Given the description of an element on the screen output the (x, y) to click on. 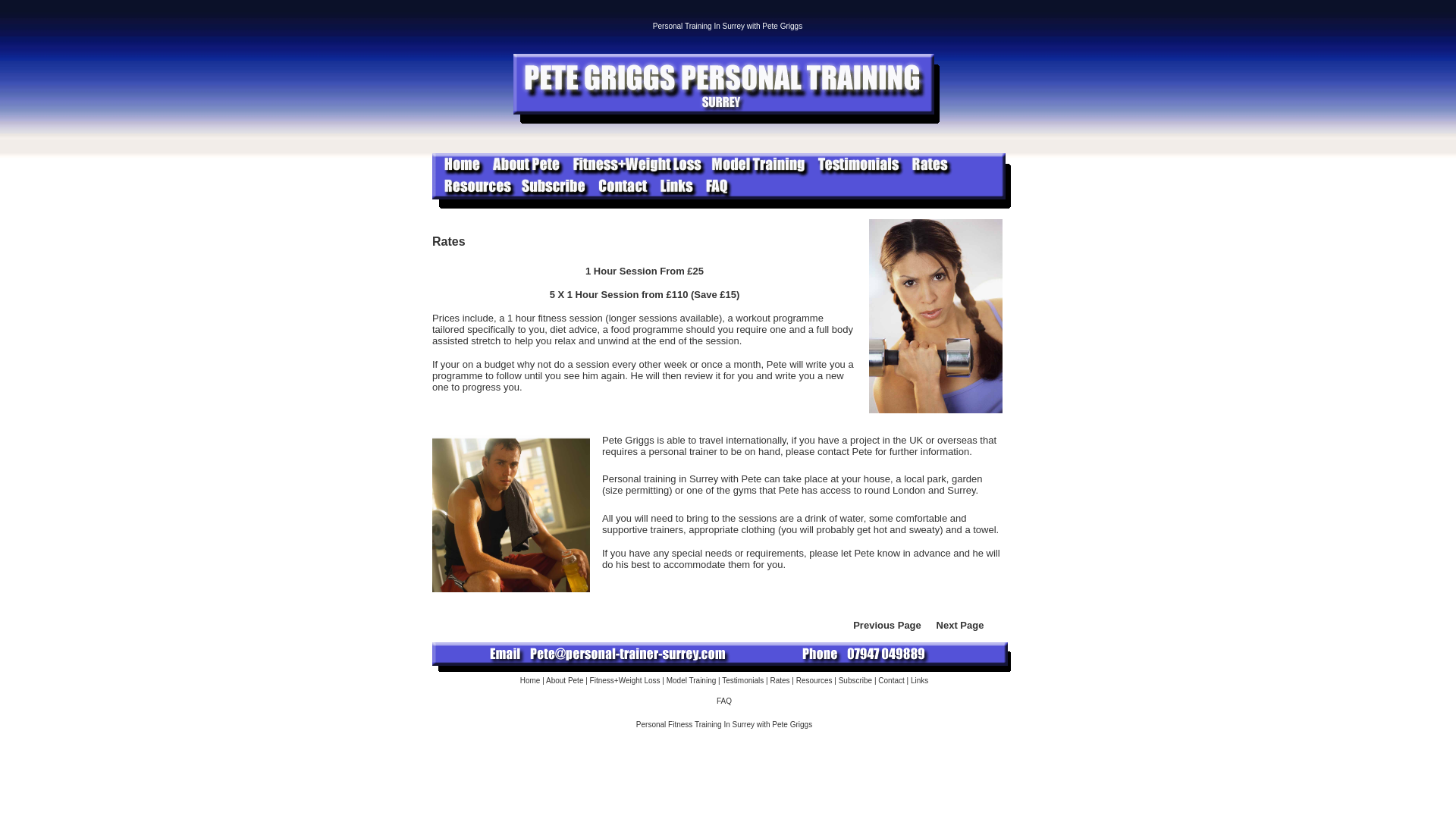
Resources (814, 680)
Subscribe (855, 680)
Resources (814, 680)
Personal Training In London with Pete Griggs (724, 724)
Resources (960, 624)
Rates (779, 680)
Links (918, 680)
Model Training (691, 680)
Links (918, 680)
Next Page (960, 624)
